Given the description of an element on the screen output the (x, y) to click on. 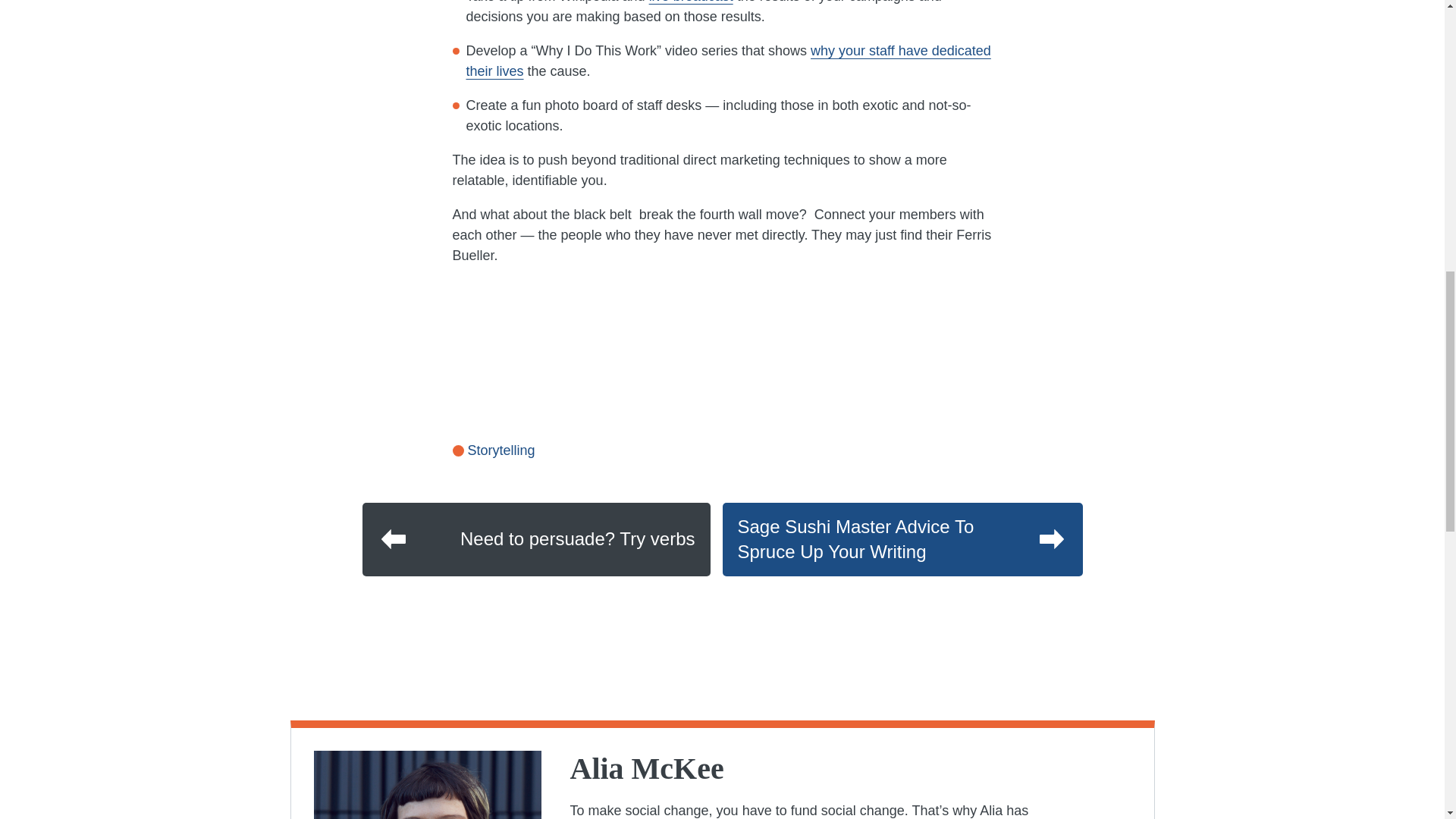
Sage Sushi Master Advice To Spruce Up Your Writing (901, 539)
Need to persuade? Try verbs (536, 539)
why your staff have dedicated their lives (727, 60)
live broadcast (691, 2)
Storytelling (492, 450)
